Given the description of an element on the screen output the (x, y) to click on. 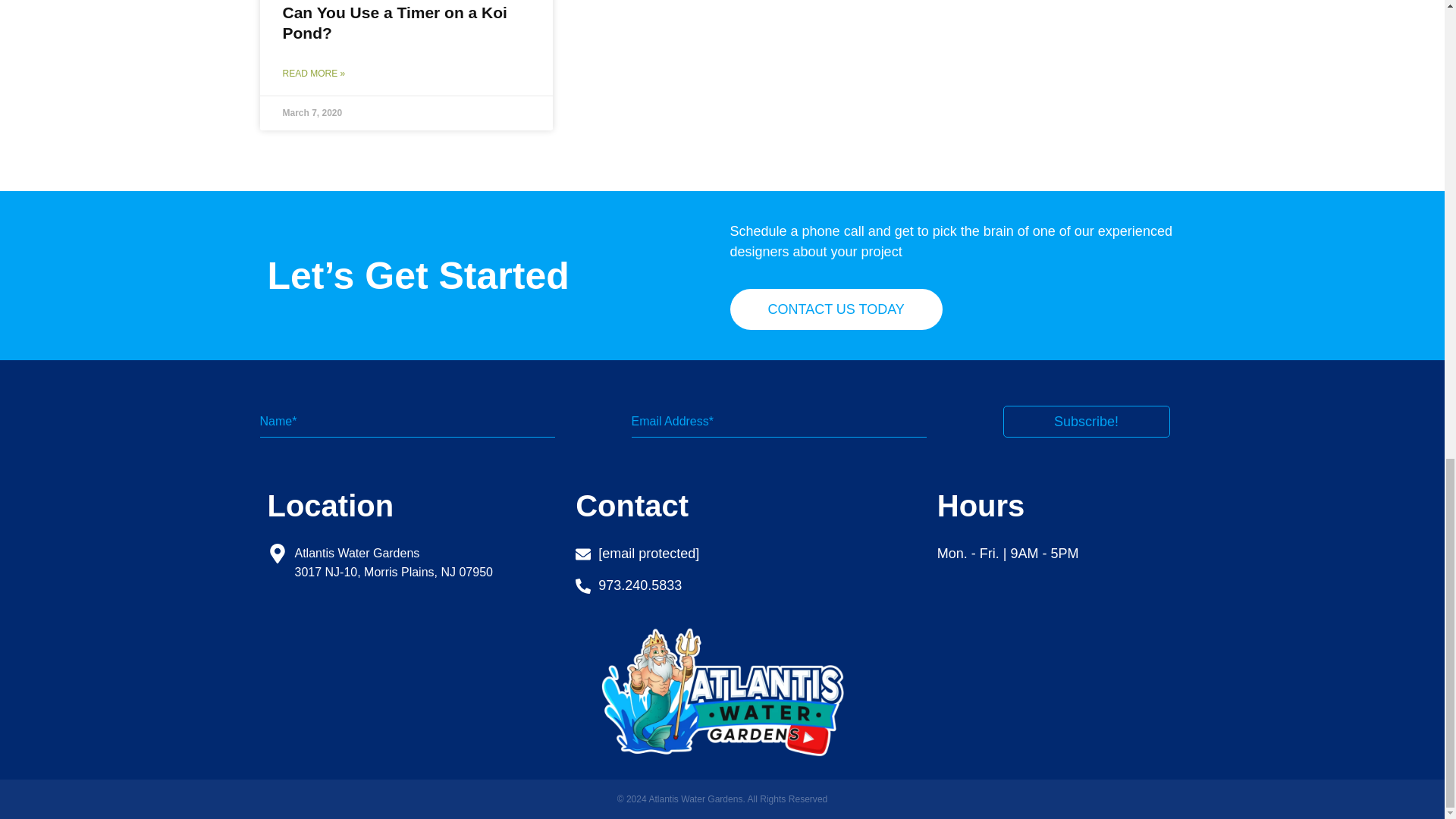
Subscribe! (1086, 421)
